Given the description of an element on the screen output the (x, y) to click on. 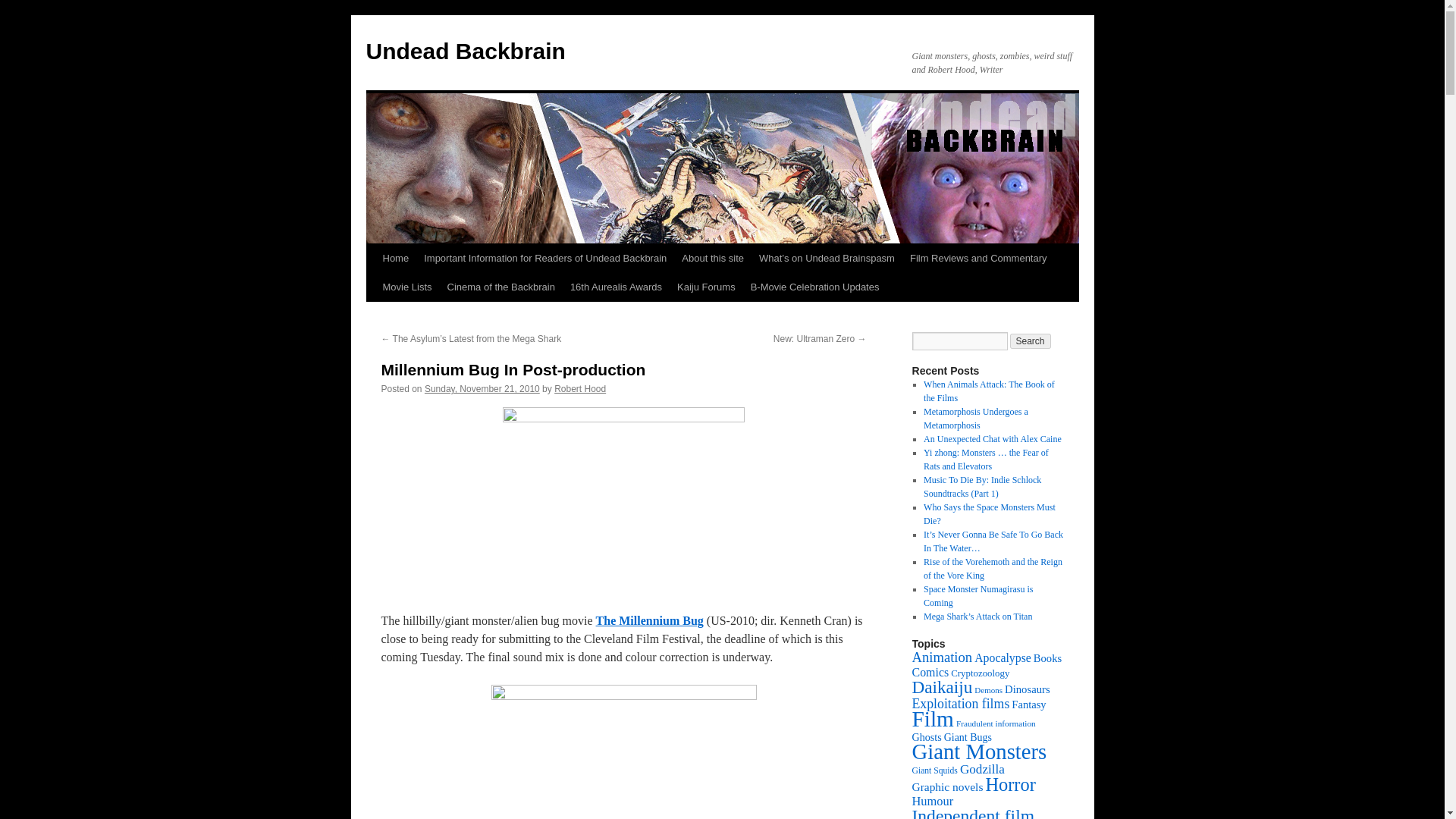
Undead Backbrain (464, 50)
Undead Backbrain (464, 50)
Home (395, 258)
Cinema of the Backbrain (500, 287)
millennium-bug-tagline (623, 500)
16th Aurealis Awards (615, 287)
Film Reviews and Commentary (978, 258)
millennium-bug-poster2 (624, 751)
Search (1030, 340)
B-Movie Celebration Updates (814, 287)
